Given the description of an element on the screen output the (x, y) to click on. 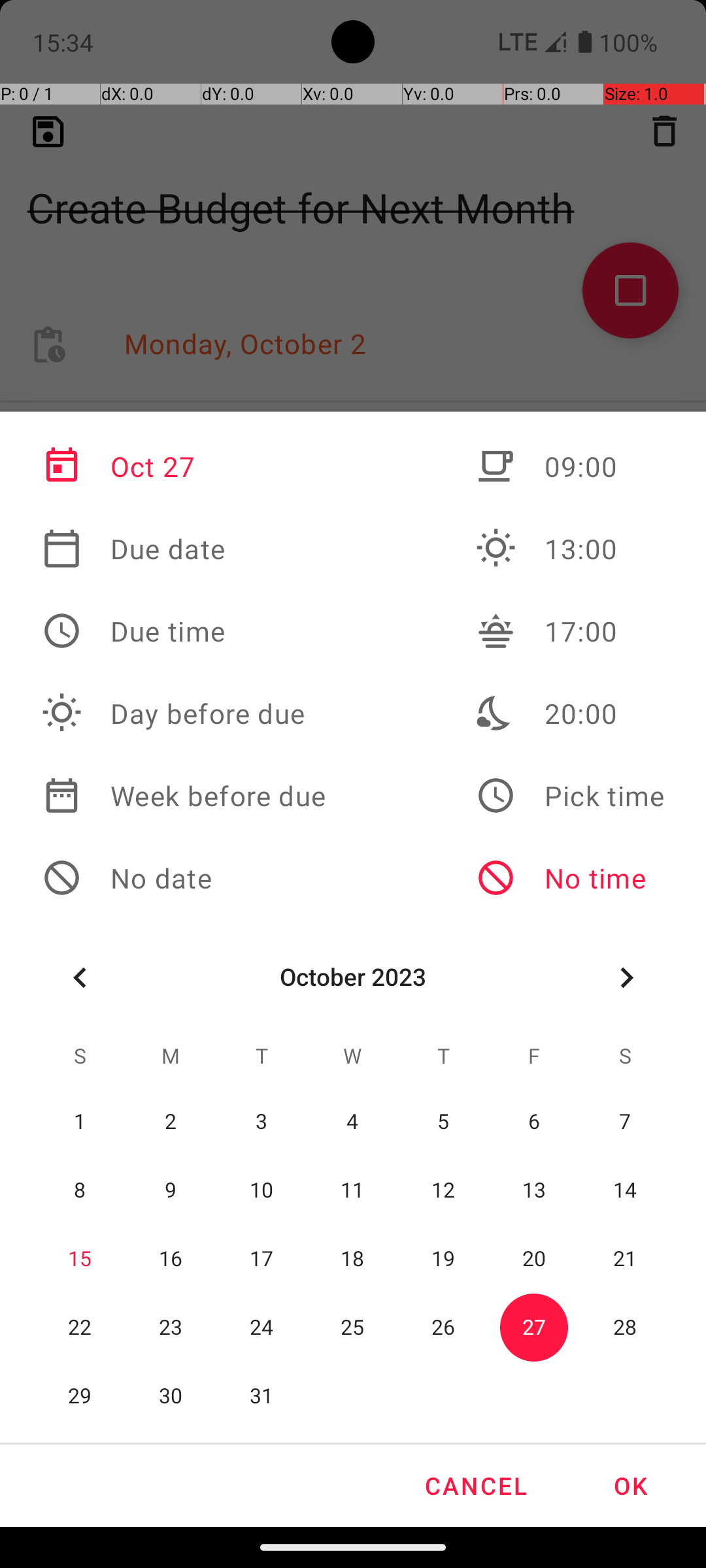
Oct 27 Element type: android.widget.CompoundButton (183, 466)
Due time Element type: android.widget.CompoundButton (183, 630)
Day before due Element type: android.widget.CompoundButton (183, 713)
Week before due Element type: android.widget.CompoundButton (183, 795)
